Given the description of an element on the screen output the (x, y) to click on. 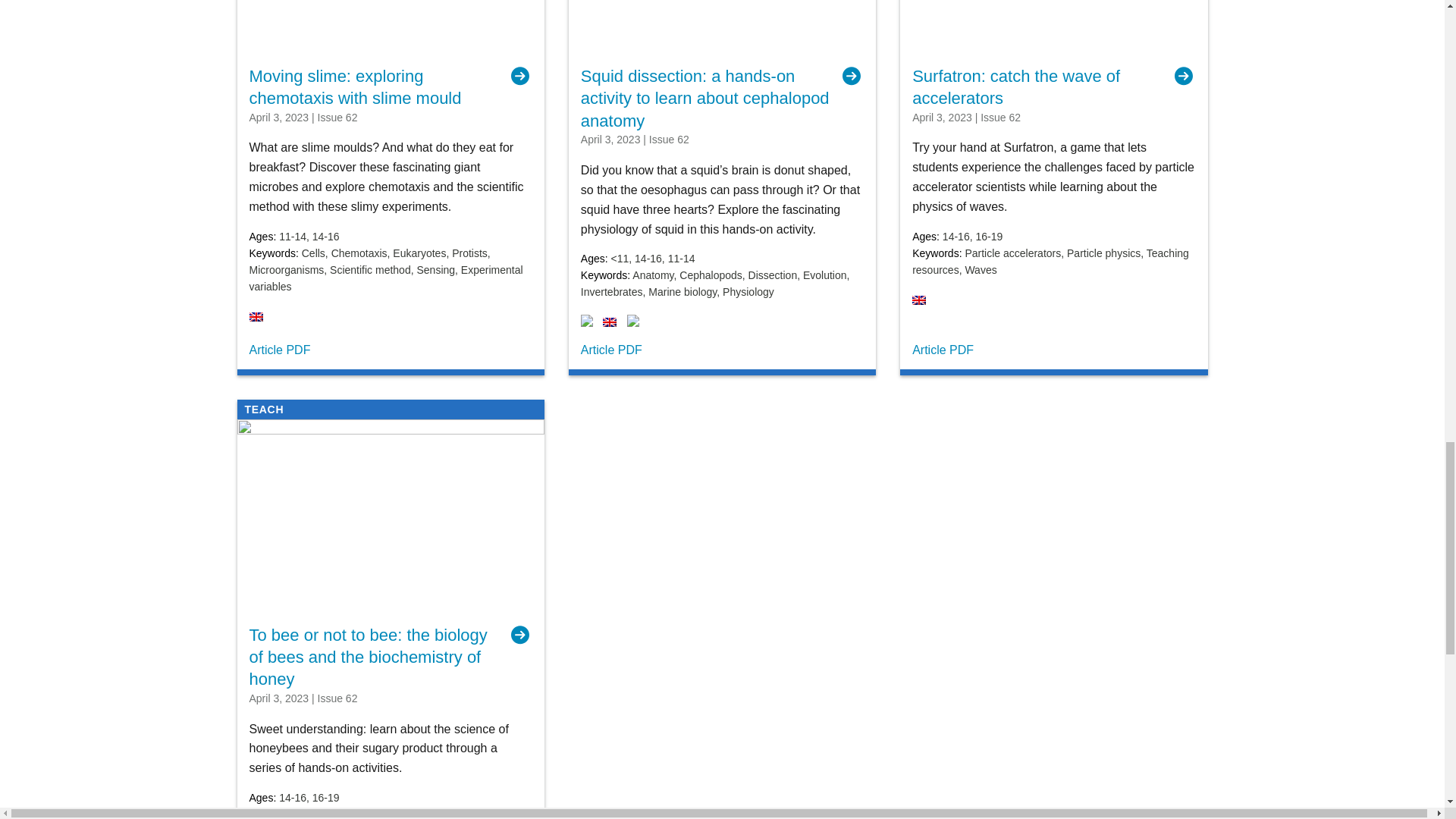
Moving slime: exploring chemotaxis with slime mould (389, 87)
Article PDF (611, 349)
Article PDF (279, 349)
Surfatron: catch the wave of accelerators (1053, 87)
